Given the description of an element on the screen output the (x, y) to click on. 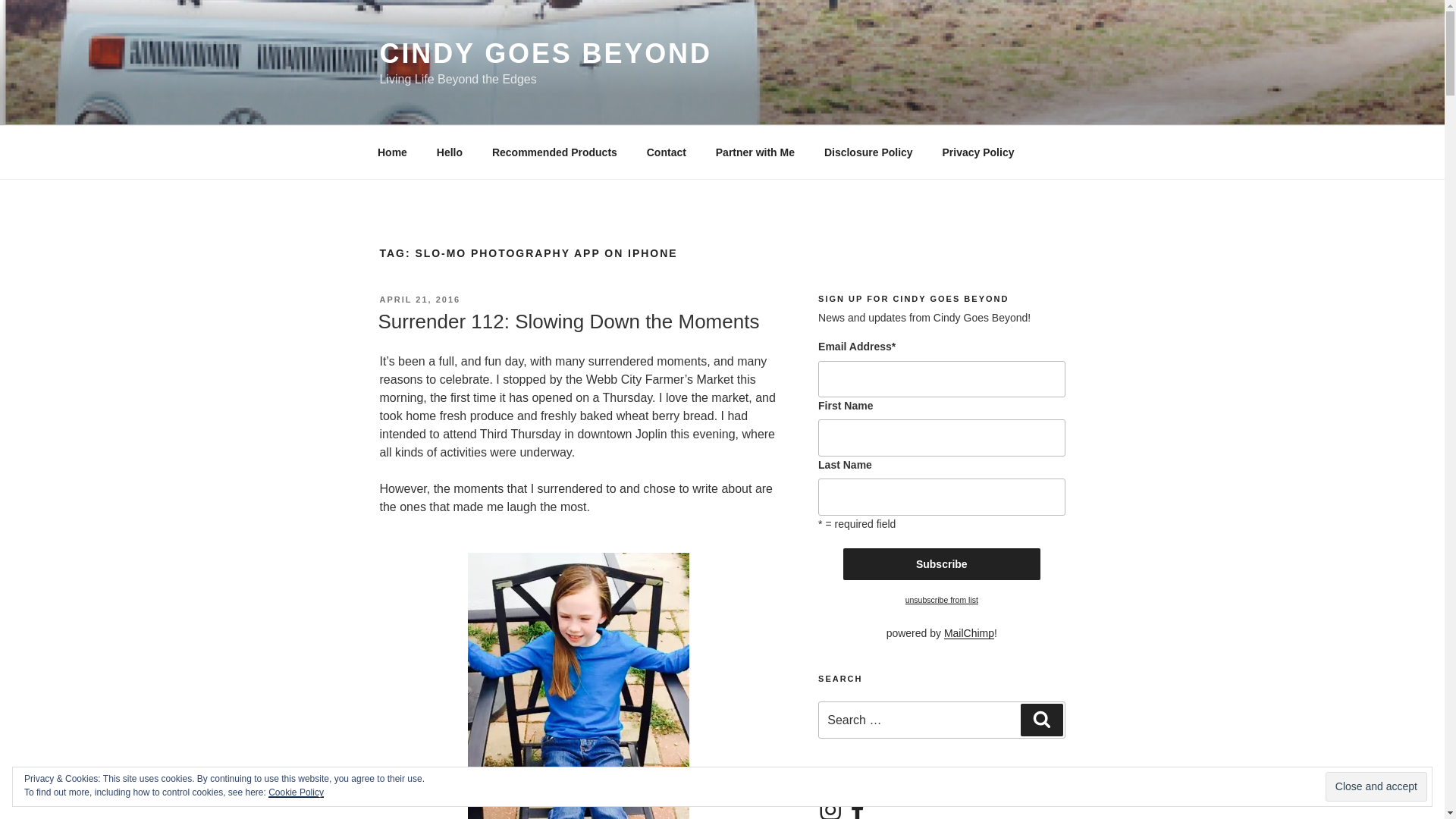
Instagram (830, 808)
Hello (449, 151)
Close and accept (1375, 786)
Privacy Policy (977, 151)
unsubscribe from list (941, 599)
Partner with Me (754, 151)
MailChimp (968, 633)
Subscribe (942, 563)
Contact (665, 151)
Subscribe (942, 563)
Home (392, 151)
Facebook (857, 808)
APRIL 21, 2016 (419, 298)
Surrender 112: Slowing Down the Moments (567, 321)
CINDY GOES BEYOND (544, 52)
